Given the description of an element on the screen output the (x, y) to click on. 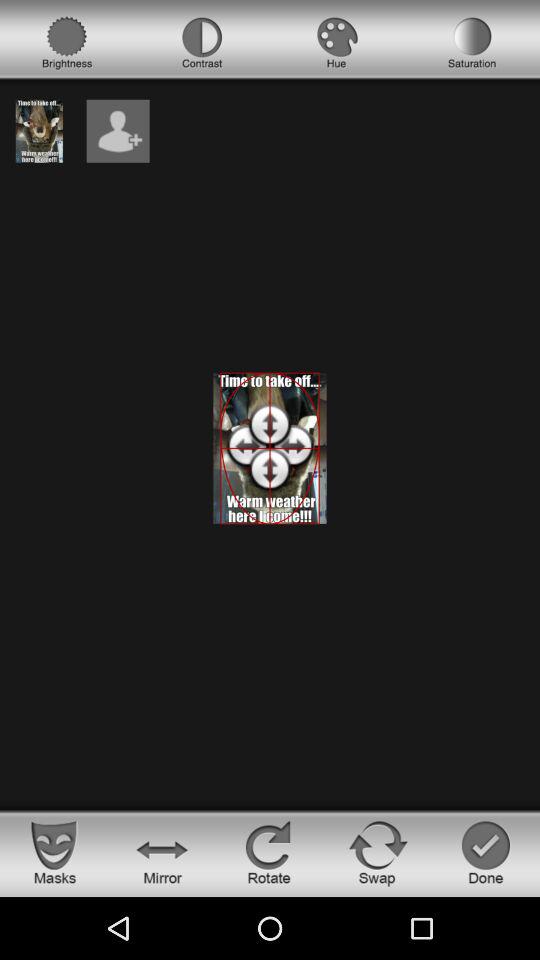
rotate photo (269, 852)
